Given the description of an element on the screen output the (x, y) to click on. 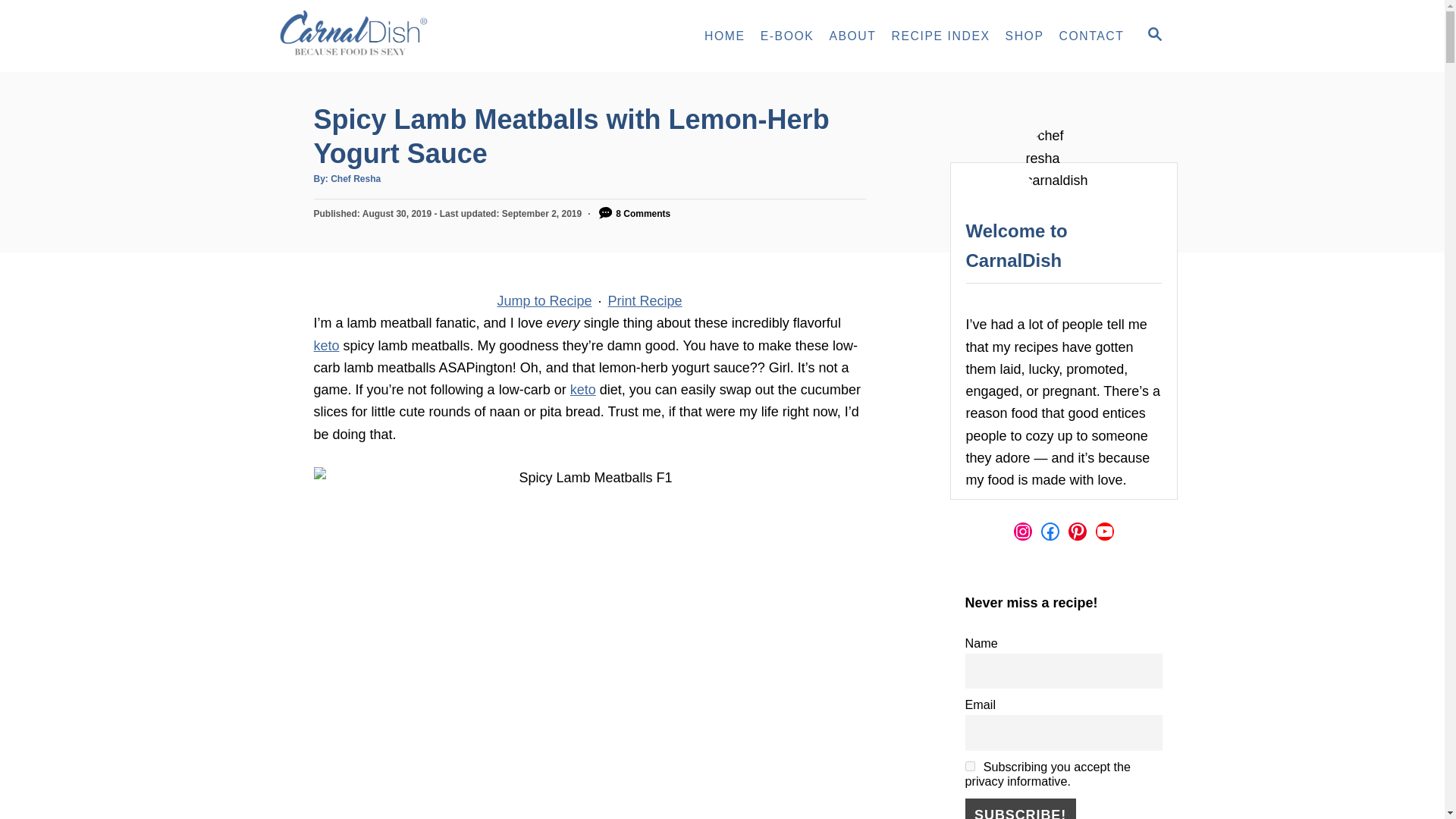
keto (582, 389)
E-BOOK (787, 36)
Jump to Recipe (543, 300)
CONTACT (1091, 36)
RECIPE INDEX (940, 36)
Chef Resha (355, 178)
HOME (724, 36)
Print Recipe (645, 300)
CarnalDish (403, 36)
SEARCH (1153, 35)
